Given the description of an element on the screen output the (x, y) to click on. 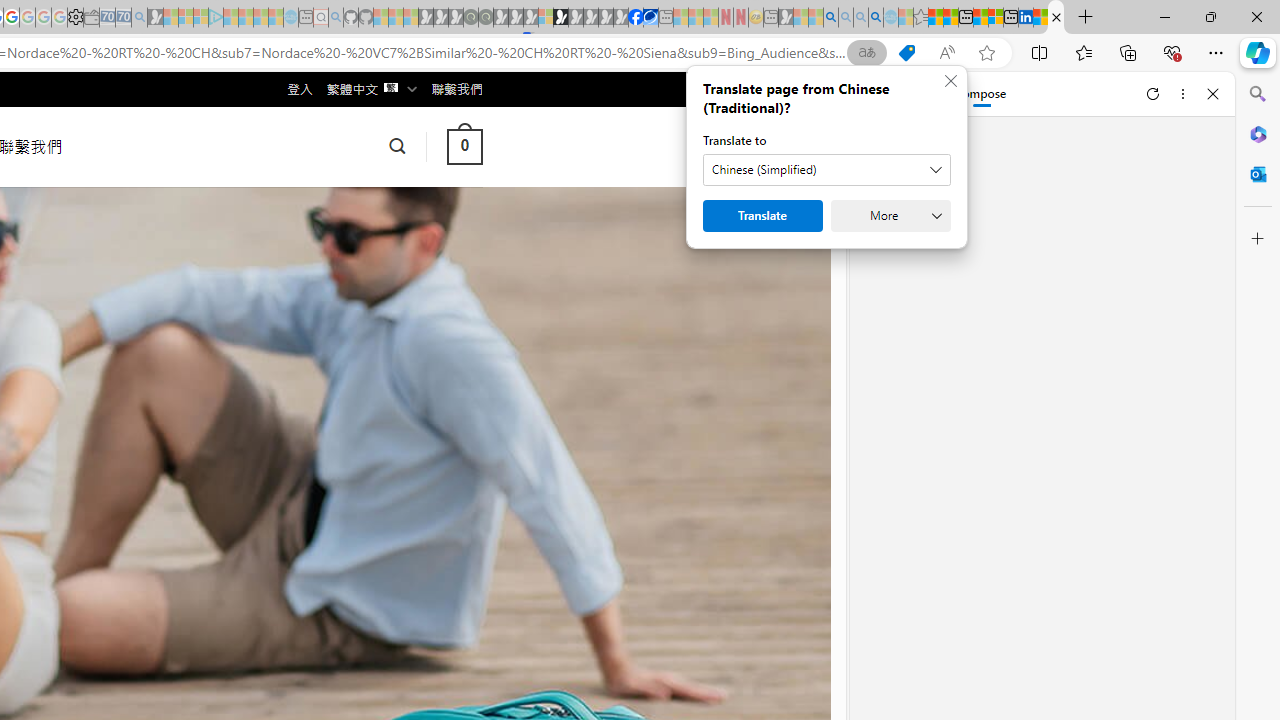
Future Focus Report 2024 - Sleeping (485, 17)
  0   (464, 146)
Translate (762, 215)
 0  (464, 146)
